Given the description of an element on the screen output the (x, y) to click on. 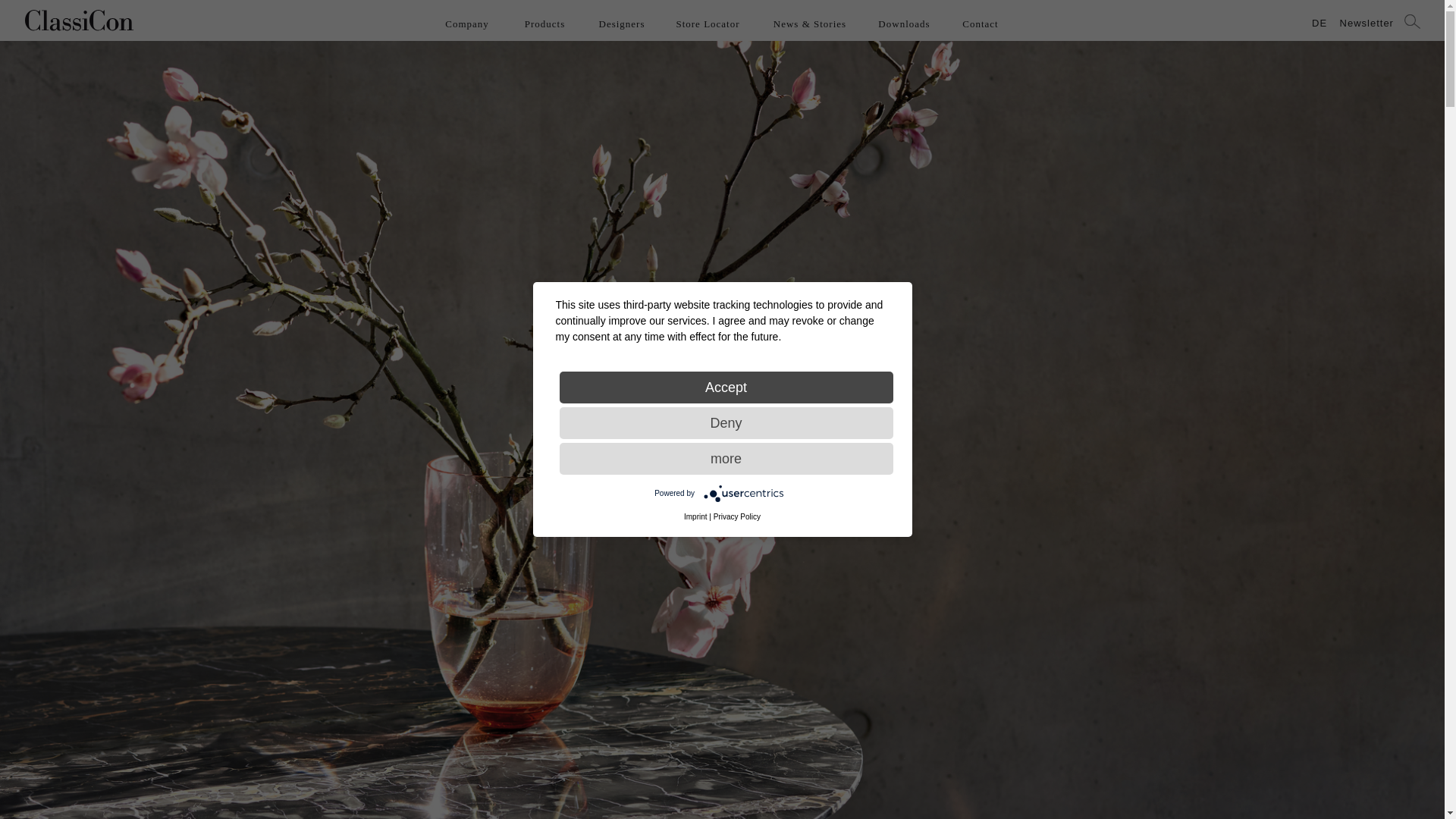
Company (467, 23)
Produkt (1323, 23)
Company (467, 23)
Downloads (903, 23)
Downloads (903, 23)
DE (1323, 23)
Contact (979, 23)
Designer (621, 23)
Products (545, 23)
Designers (621, 23)
